Given the description of an element on the screen output the (x, y) to click on. 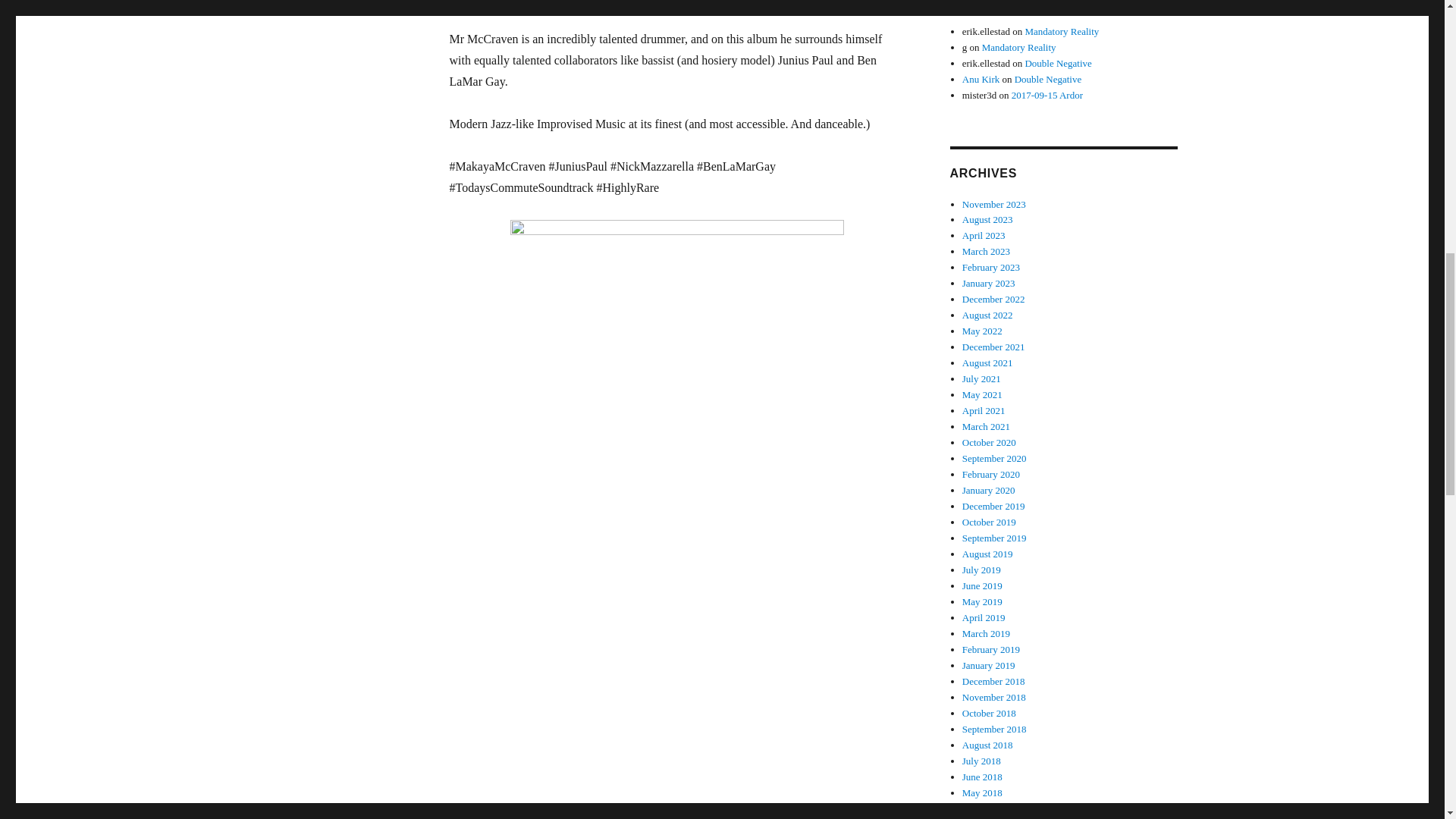
March 2023 (986, 251)
December 2021 (993, 346)
2017-09-15 Ardor (1047, 94)
Double Negative (1057, 62)
February 2023 (991, 266)
August 2021 (987, 362)
Mandatory Reality (1019, 47)
April 2023 (984, 235)
November 2023 (994, 204)
Anu Kirk (980, 79)
May 2022 (982, 330)
January 2023 (988, 283)
Double Negative (1047, 79)
Mandatory Reality (1062, 30)
December 2022 (993, 298)
